Given the description of an element on the screen output the (x, y) to click on. 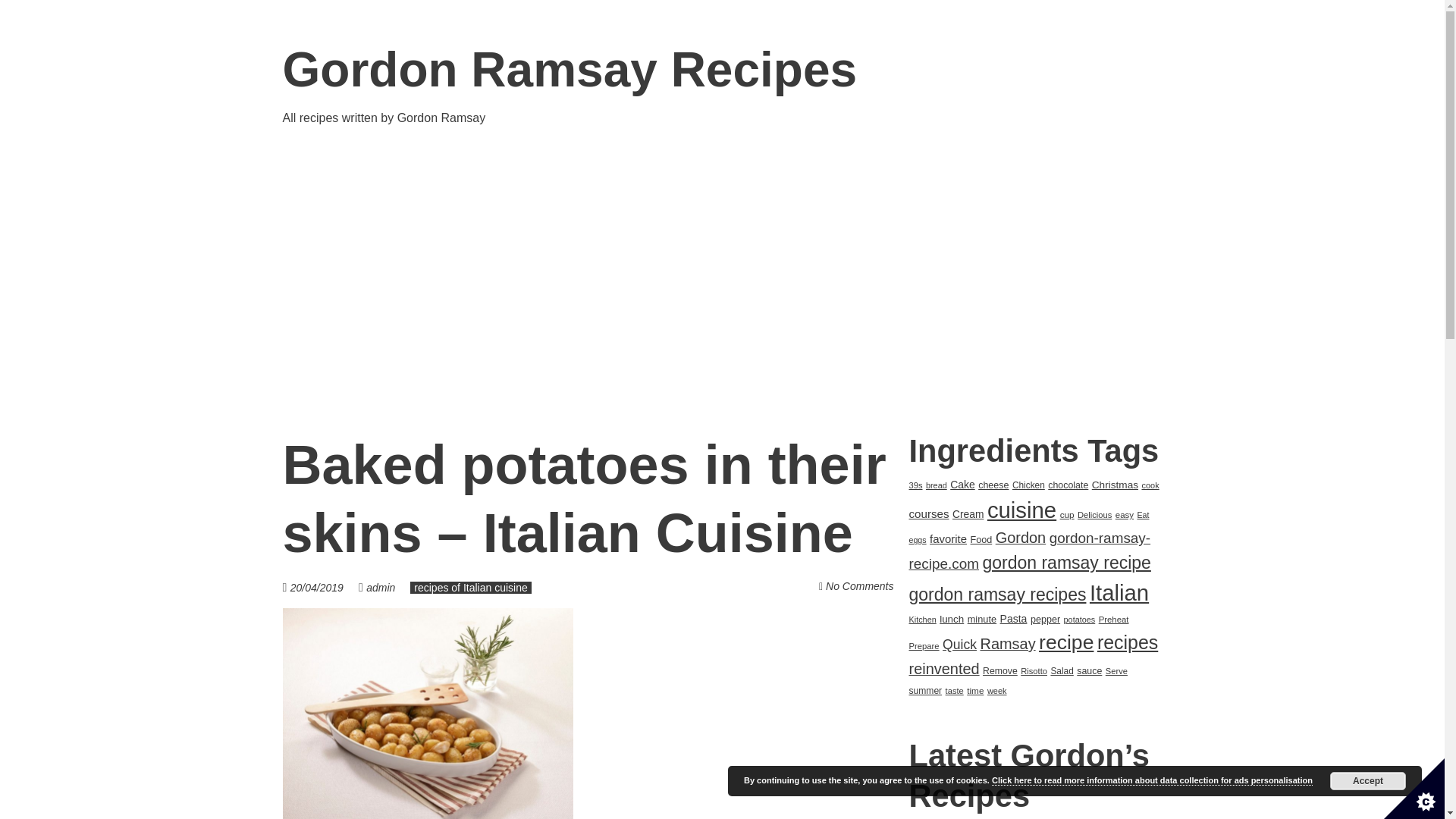
favorite (948, 538)
admin (380, 587)
Gordon Ramsay Recipes (569, 69)
Eat (1142, 514)
Delicious (1094, 514)
recipes of Italian cuisine (470, 587)
Kitchen (922, 619)
minute (981, 618)
Food (981, 539)
gordon ramsay recipe (1065, 562)
39s (914, 484)
cuisine (1022, 509)
Chicken (1028, 484)
eggs (917, 539)
gordon ramsay recipes (997, 594)
